Given the description of an element on the screen output the (x, y) to click on. 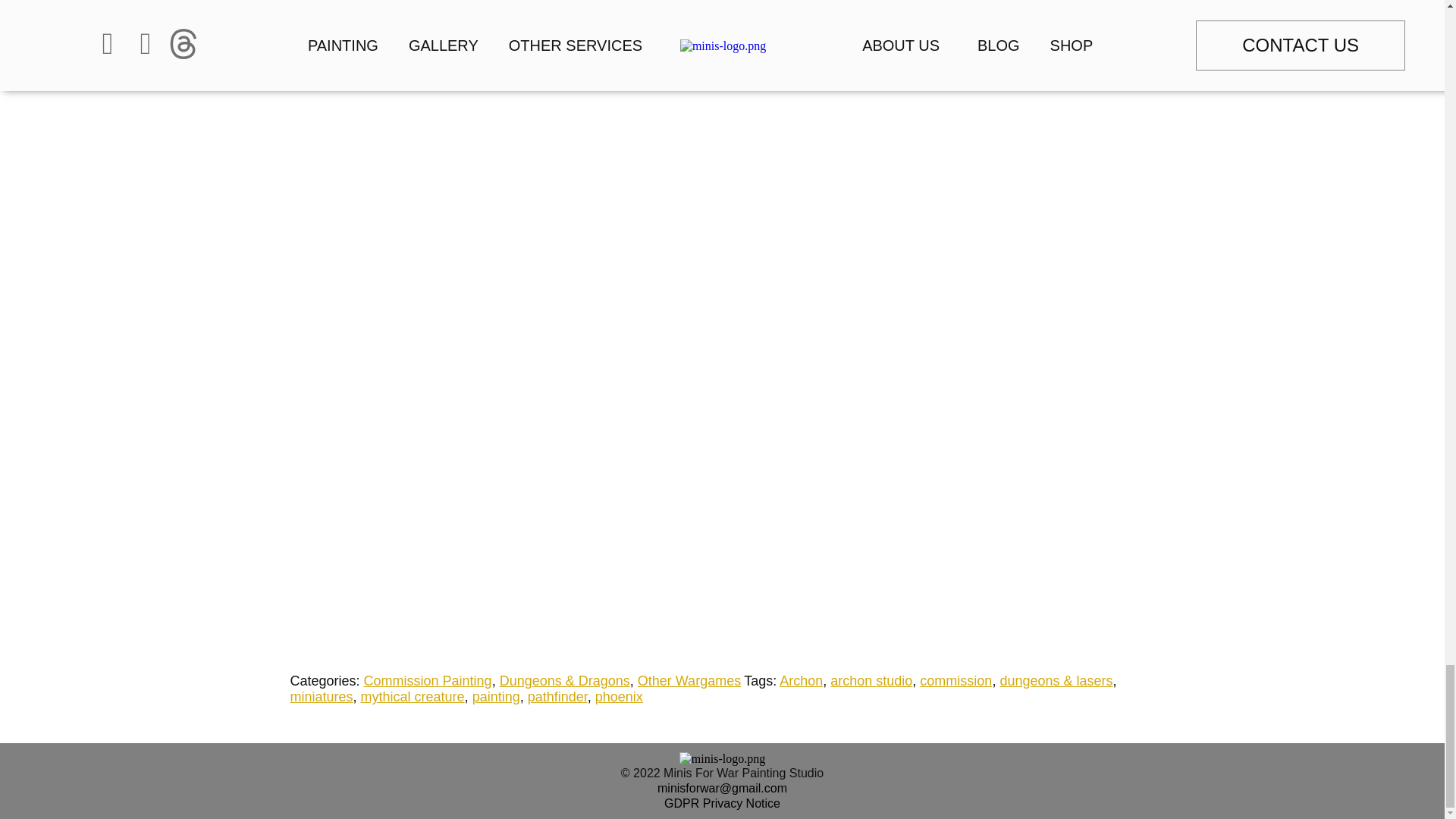
painting (495, 696)
minis-logo.png (722, 758)
mythical creature (412, 696)
commission (955, 680)
miniatures (320, 696)
archon studio (870, 680)
Other Wargames (689, 680)
pathfinder (557, 696)
Commission Painting (428, 680)
Archon (800, 680)
